Given the description of an element on the screen output the (x, y) to click on. 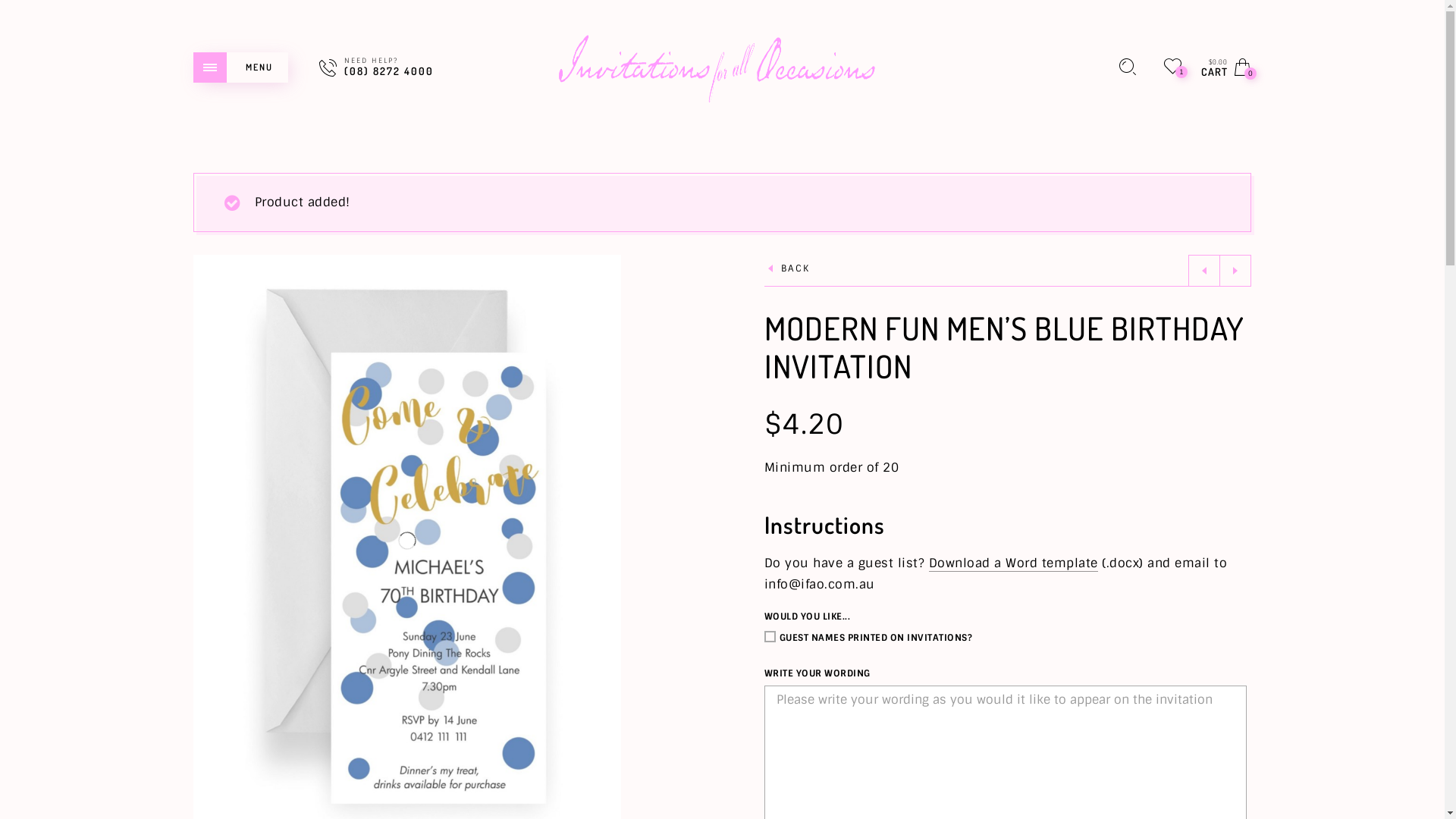
1 Element type: text (1172, 66)
Download a Word template Element type: text (1012, 563)
Previous product Element type: text (1204, 270)
Next product Element type: text (1235, 270)
$0.00
CART
0 Element type: text (1226, 67)
BACK Element type: text (786, 269)
